Given the description of an element on the screen output the (x, y) to click on. 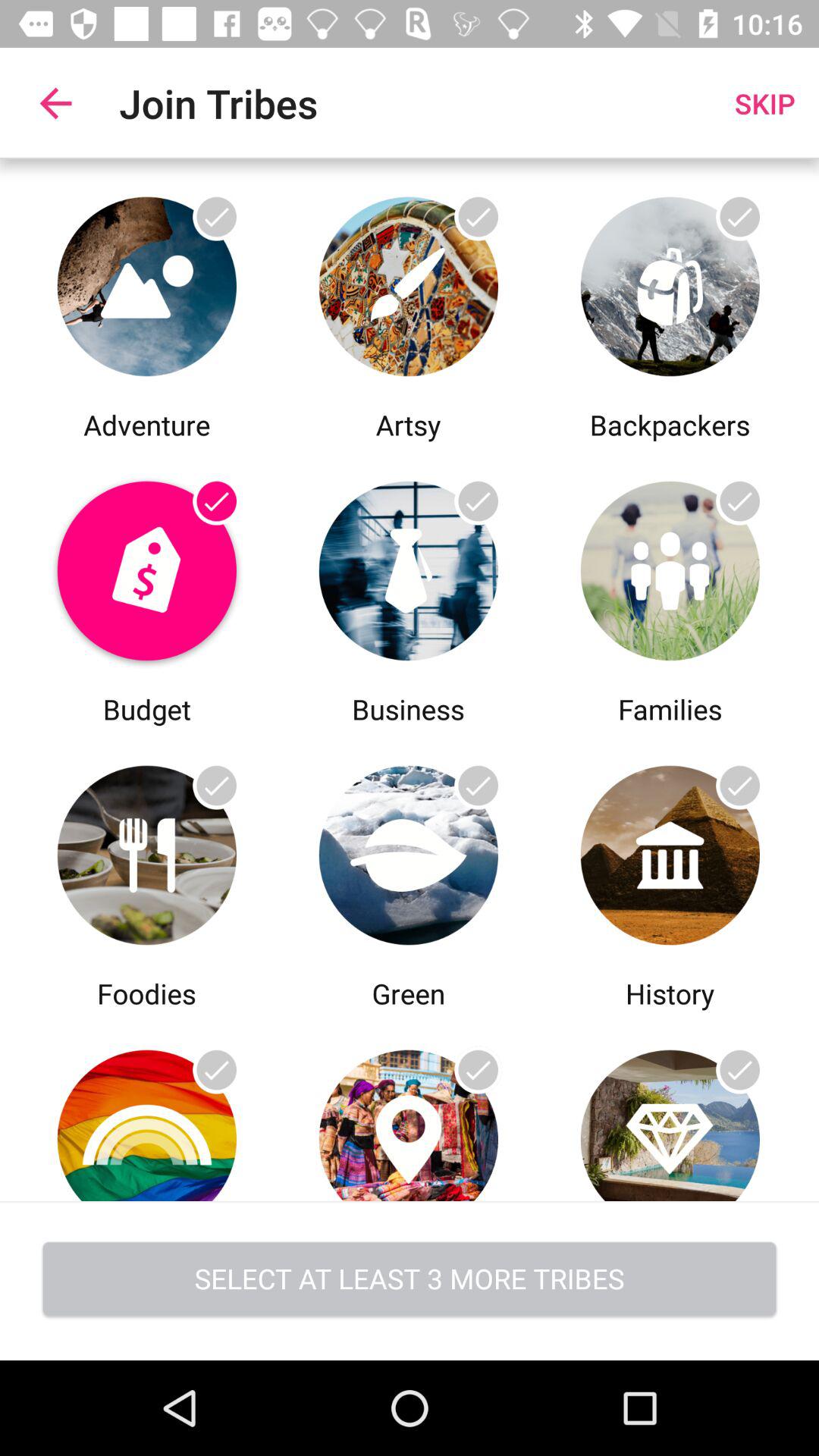
go on adventure option (146, 282)
